Given the description of an element on the screen output the (x, y) to click on. 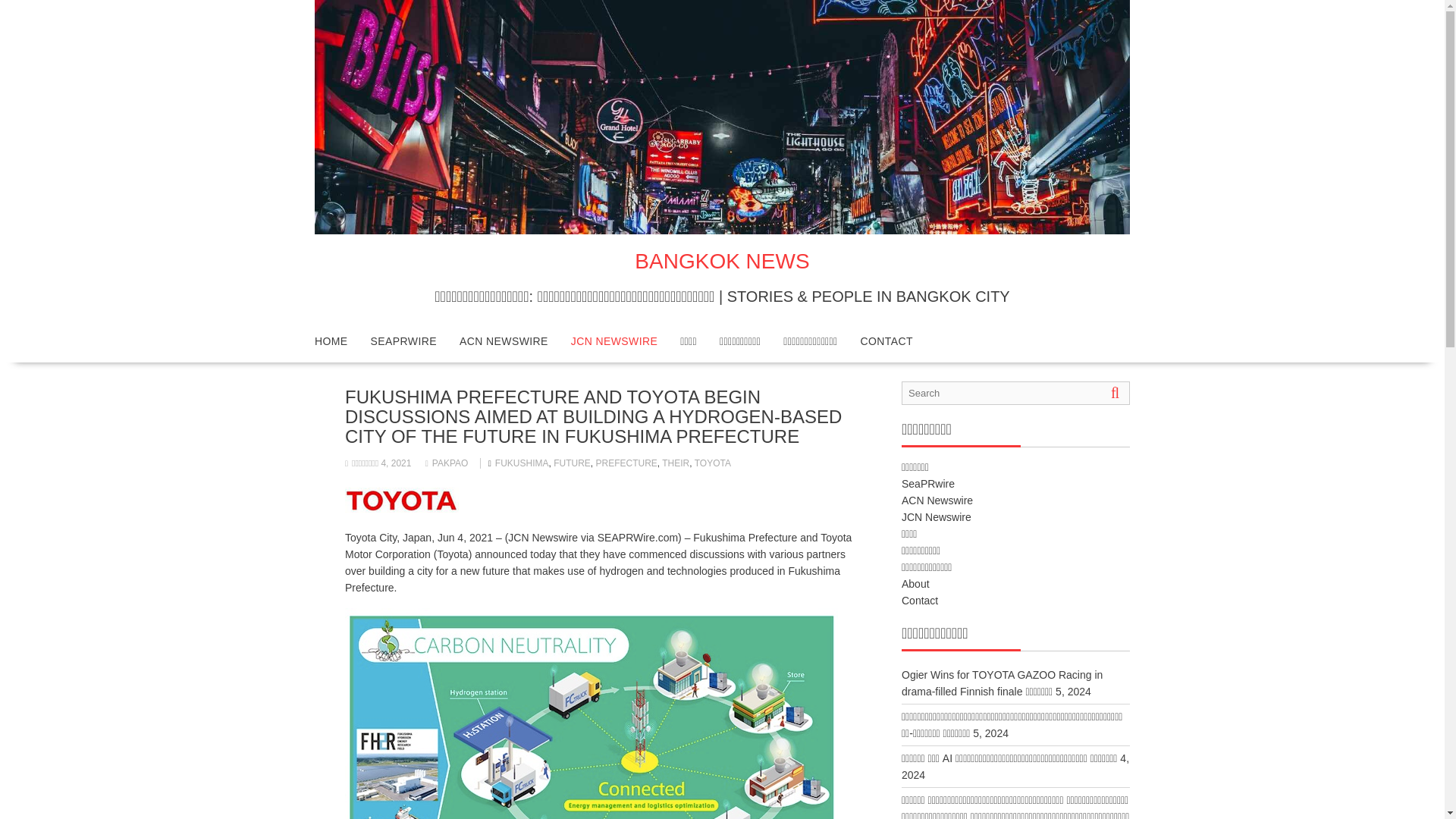
JCN Newswire (936, 517)
About (915, 583)
Contact (919, 600)
BANGKOK NEWS (721, 260)
HOME (330, 340)
JCN NEWSWIRE (613, 340)
ACN Newswire (936, 500)
FUTURE (572, 462)
SeaPRwire (928, 483)
Bankok News (721, 230)
CONTACT (886, 340)
TOYOTA (712, 462)
PAKPAO (446, 462)
ACN NEWSWIRE (503, 340)
